Given the description of an element on the screen output the (x, y) to click on. 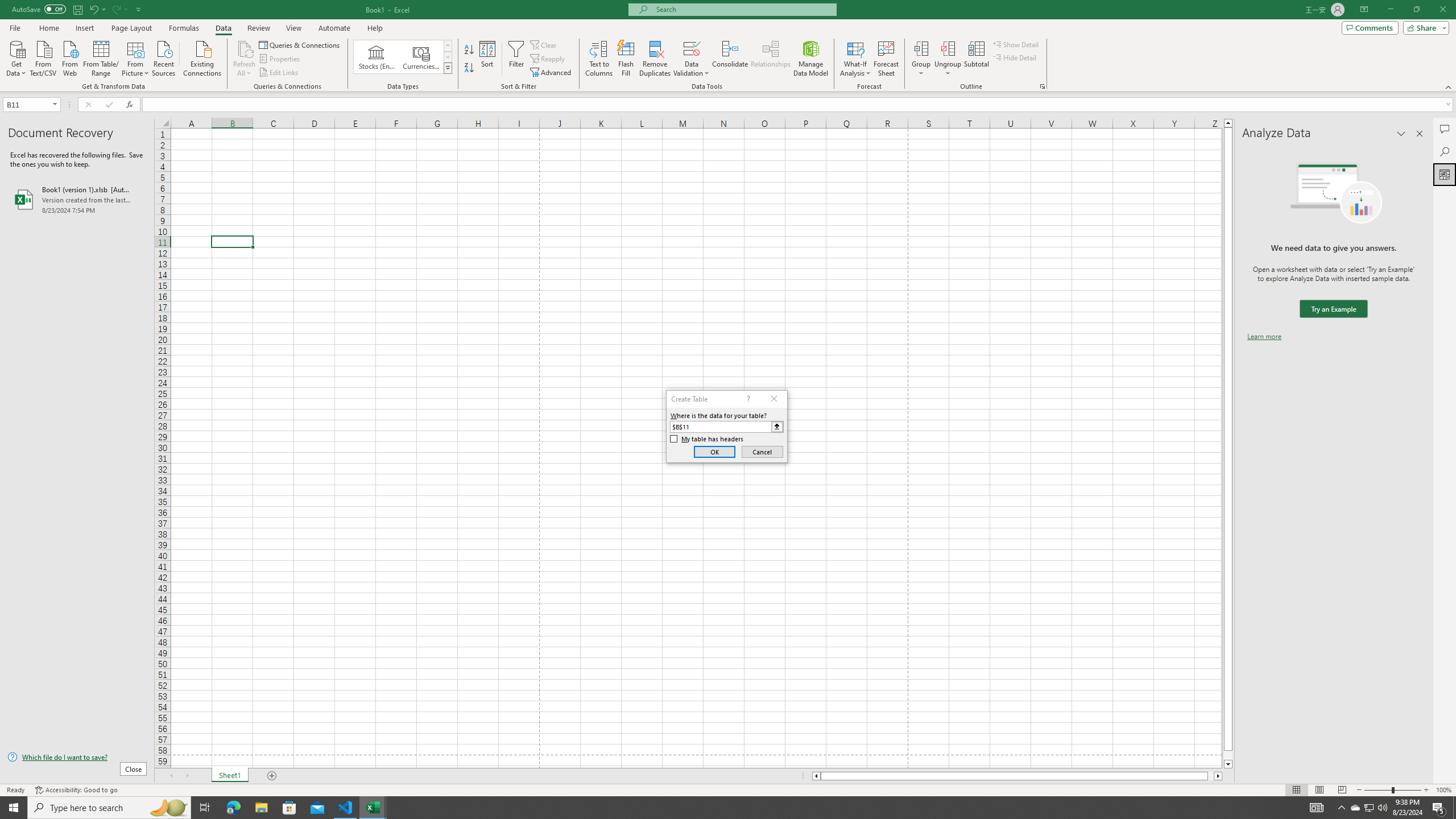
Properties (280, 58)
AutomationID: ConvertToLinkedEntity (403, 56)
What-If Analysis (855, 58)
Subtotal (976, 58)
Existing Connections (202, 57)
